Given the description of an element on the screen output the (x, y) to click on. 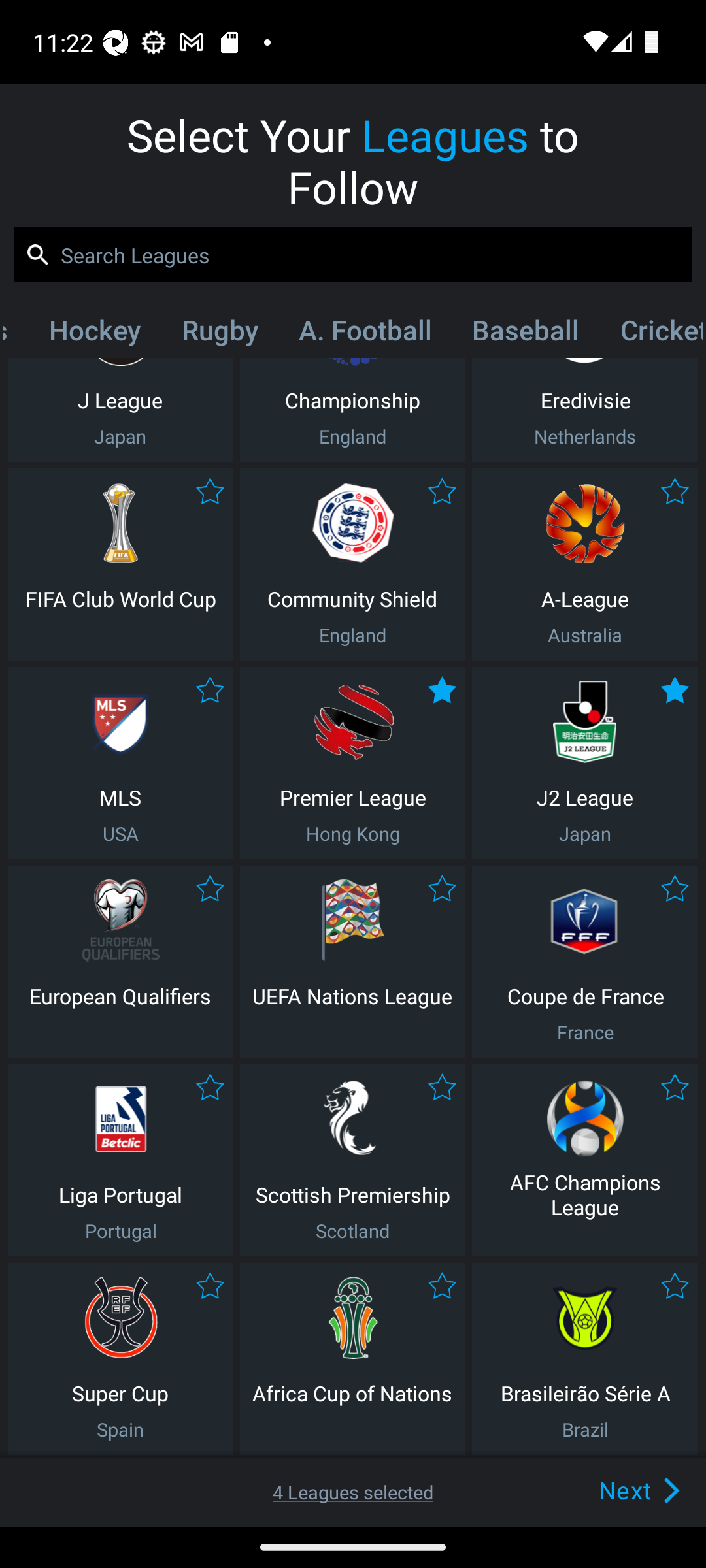
Search Leagues (352, 254)
Hockey (94, 333)
Rugby (219, 333)
A. Football (364, 333)
Baseball (525, 333)
Cricket (650, 333)
FIFA Club World Cup (120, 564)
Community Shield England (352, 564)
A-League Australia (585, 564)
MLS USA (120, 762)
Premier League Hong Kong (352, 762)
J2 League Japan (585, 762)
European Qualifiers (120, 961)
UEFA Nations League (352, 961)
Coupe de France France (585, 961)
Liga Portugal Portugal (120, 1159)
Scottish Premiership Scotland (352, 1159)
AFC Champions League (585, 1159)
Super Cup Spain (120, 1358)
Africa Cup of Nations (352, 1358)
Brasileirão Série A Brazil (585, 1358)
Next (609, 1489)
4 Leagues selected (352, 1491)
